Given the description of an element on the screen output the (x, y) to click on. 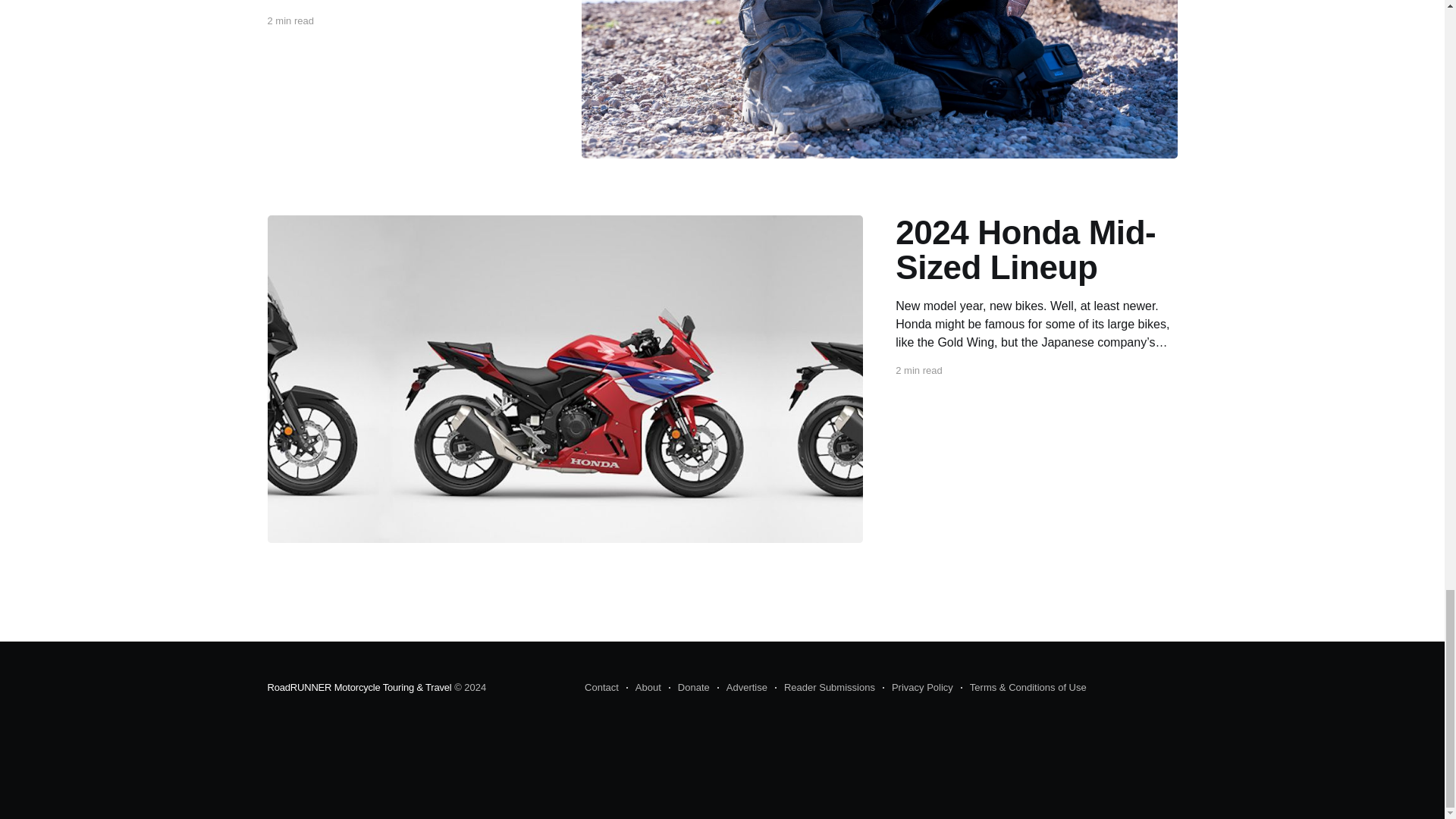
Donate (689, 687)
Privacy Policy (917, 687)
Contact (601, 687)
Advertise (742, 687)
Reader Submissions (824, 687)
About (643, 687)
